Given the description of an element on the screen output the (x, y) to click on. 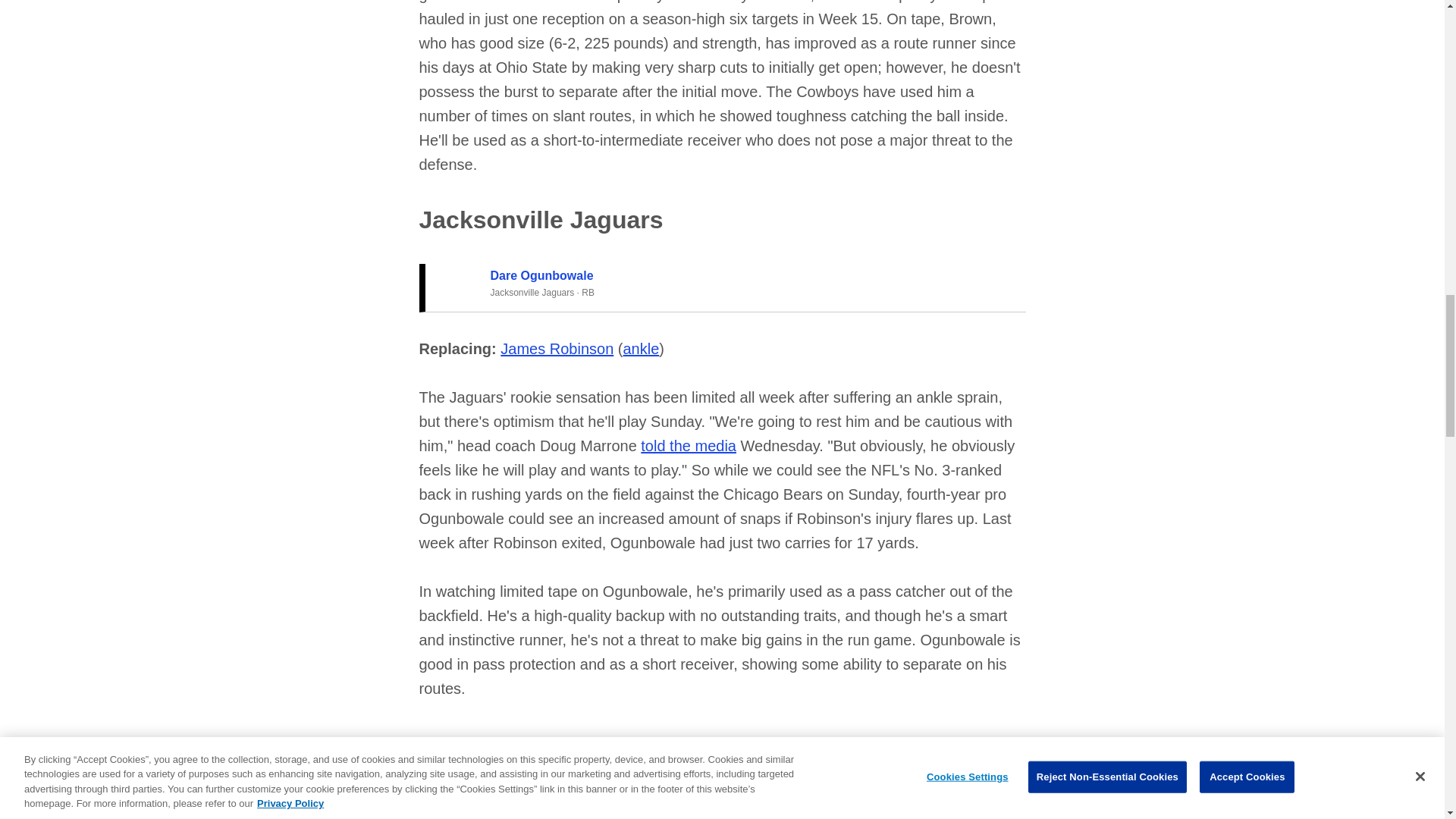
Dare Ogunbowale (540, 275)
ankle (641, 348)
told the media (688, 445)
James Robinson (556, 348)
Dare Ogunbowale (540, 275)
